Given the description of an element on the screen output the (x, y) to click on. 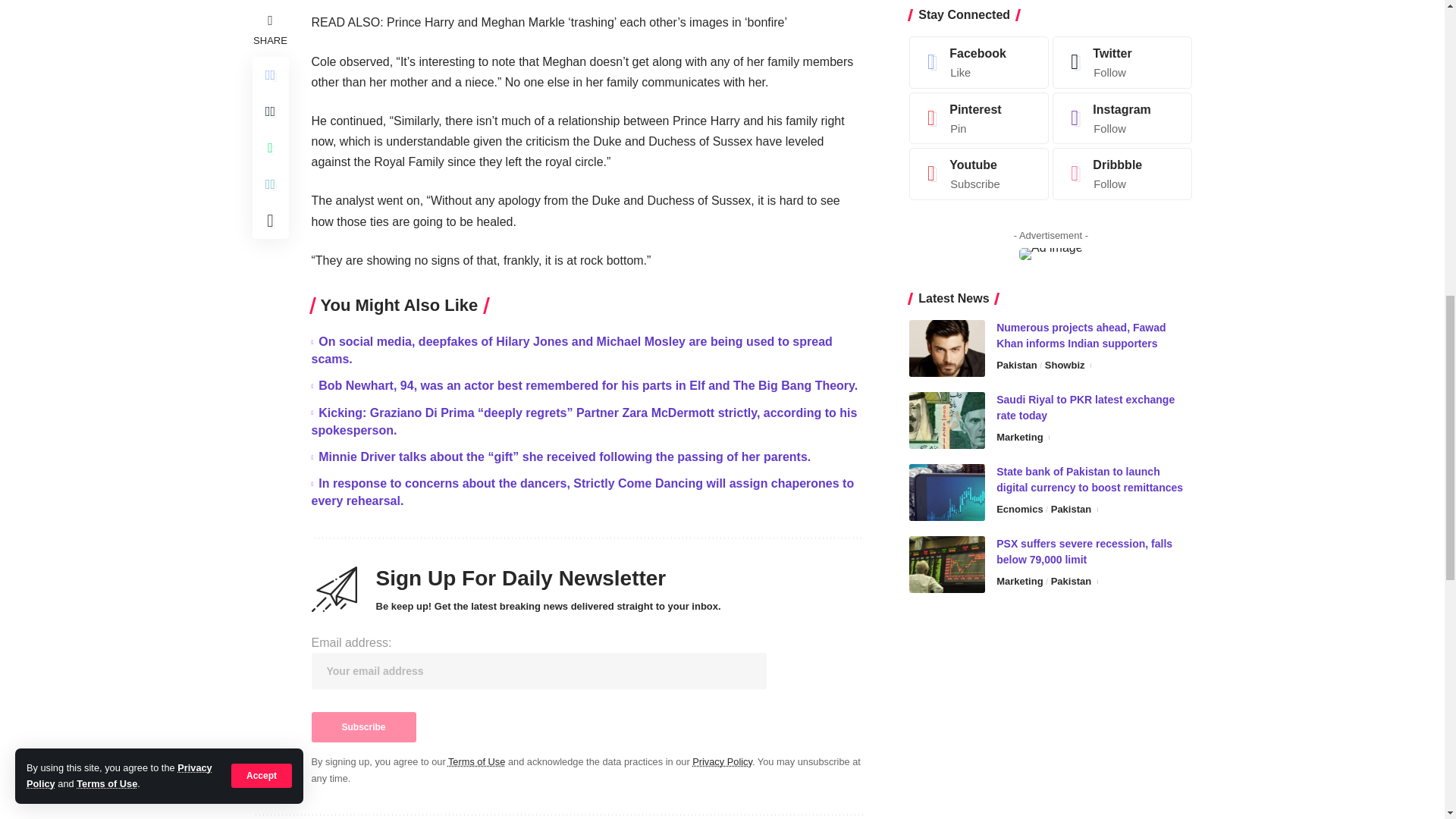
Subscribe (362, 726)
